Given the description of an element on the screen output the (x, y) to click on. 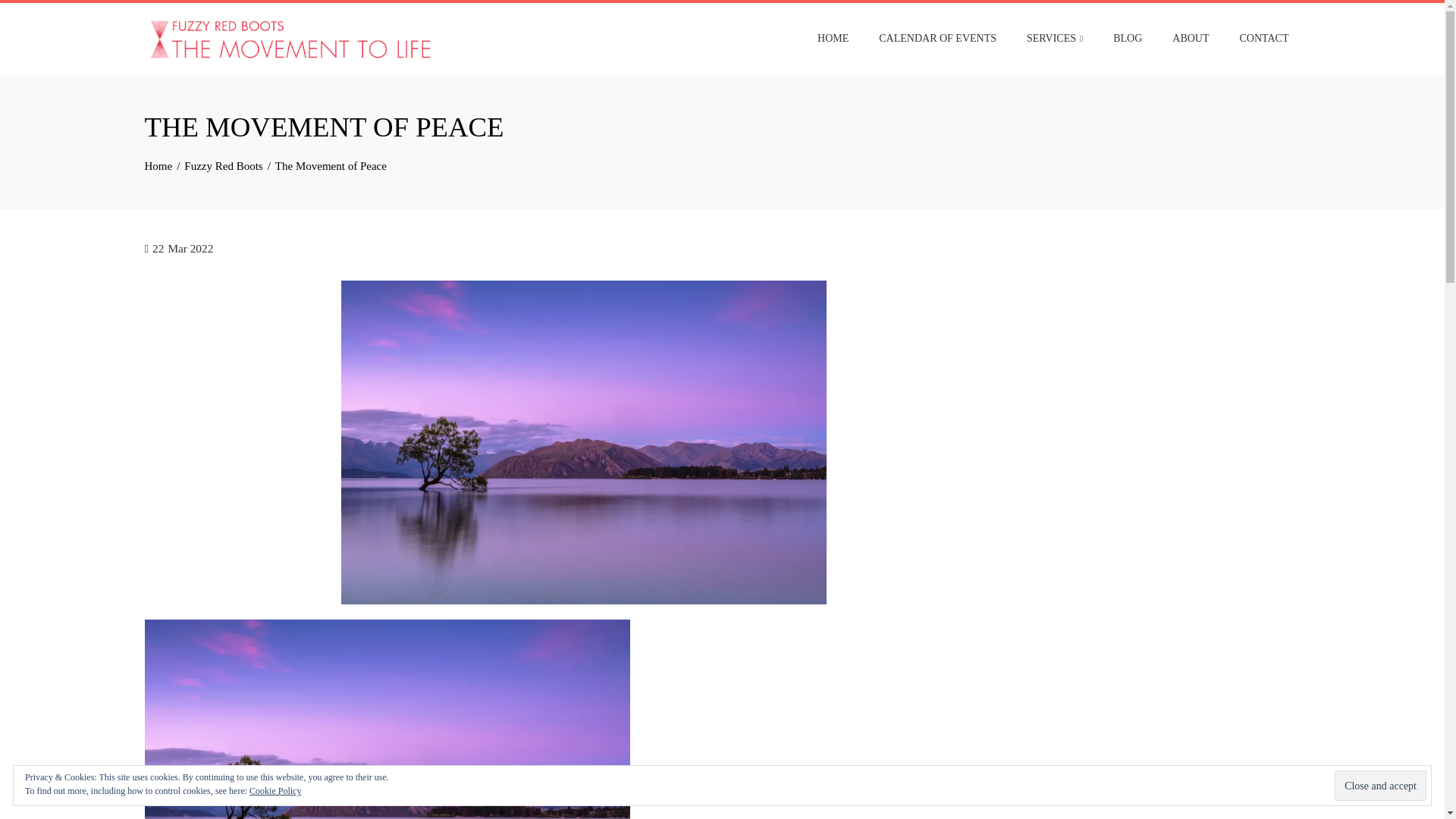
CALENDAR OF EVENTS (937, 38)
Home (157, 165)
HOME (833, 38)
BLOG (1127, 38)
CONTACT (1264, 38)
SERVICES (1054, 39)
Fuzzy Red Boots (223, 165)
ABOUT (1190, 38)
Close and accept (1380, 785)
